Given the description of an element on the screen output the (x, y) to click on. 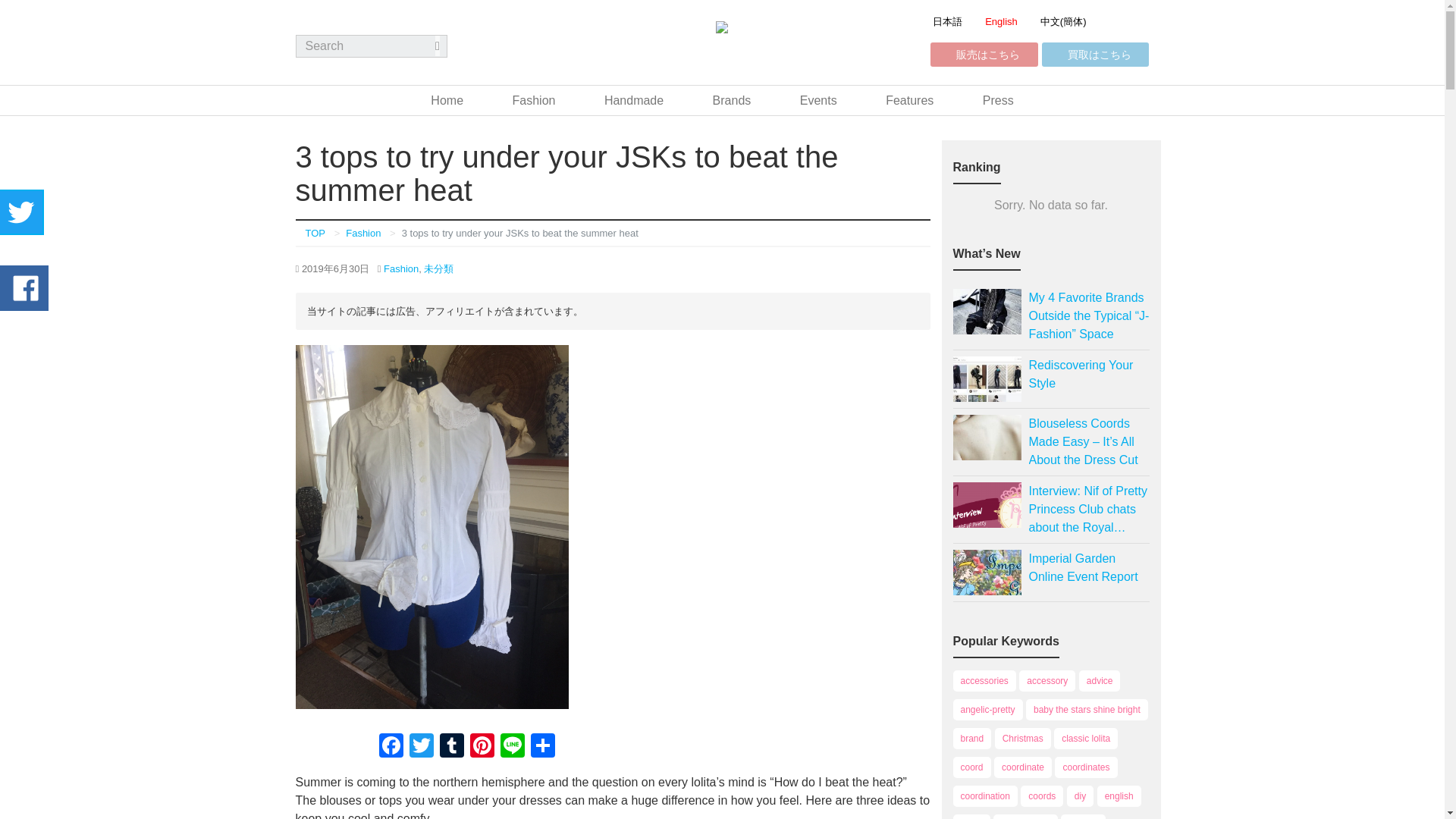
Events (818, 100)
Facebook (390, 747)
Tumblr (451, 747)
Line (512, 747)
Twitter (421, 747)
Pinterest (482, 747)
Fashion (401, 267)
Tumblr (451, 747)
Fashion (363, 233)
Facebook (390, 747)
Pinterest (482, 747)
Press (997, 100)
Features (909, 100)
Home (446, 100)
Twitter (421, 747)
